Given the description of an element on the screen output the (x, y) to click on. 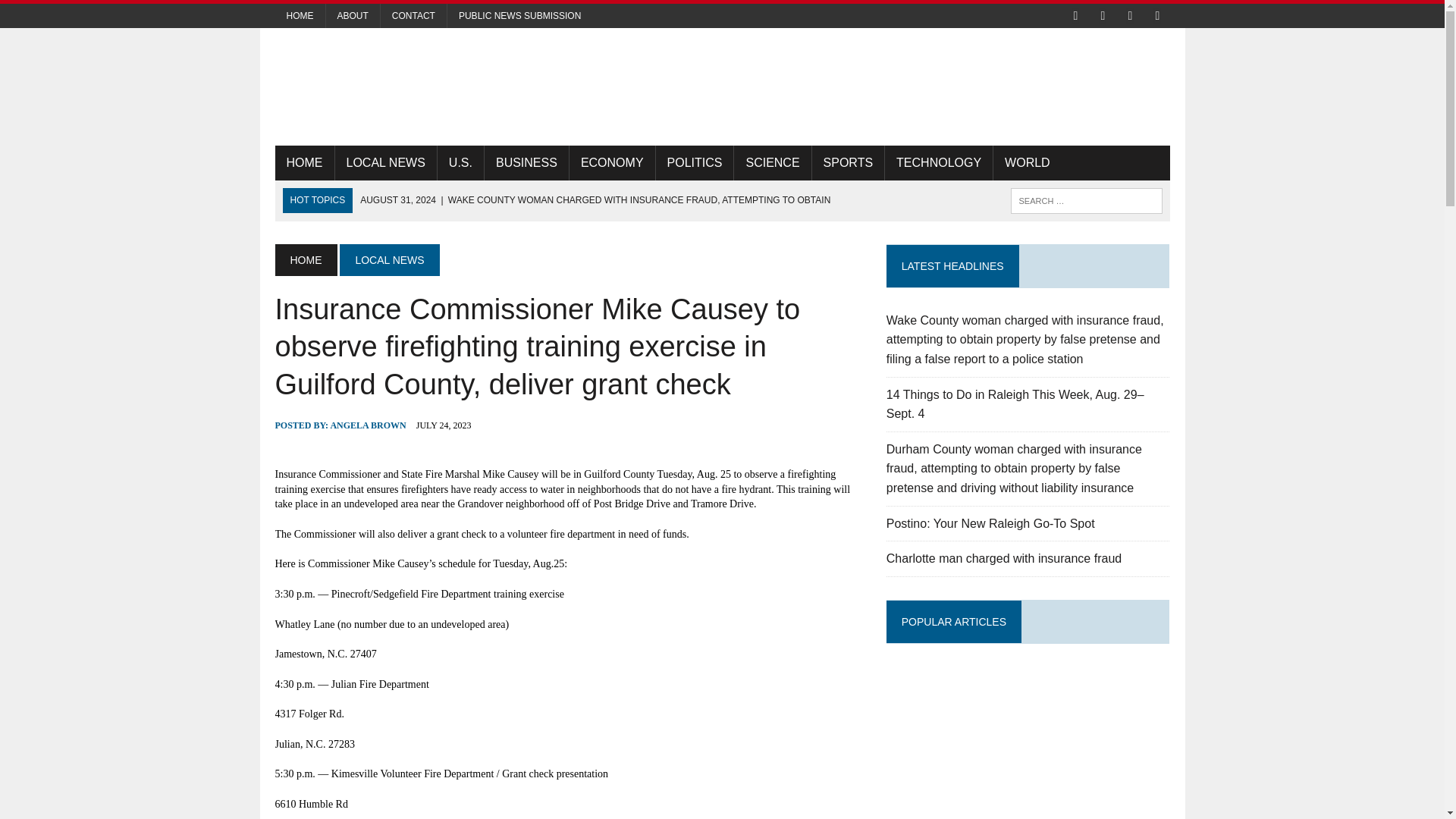
ANGELA BROWN (368, 425)
BUSINESS (526, 162)
ABOUT (353, 15)
HOME (305, 260)
CONTACT (413, 15)
Search (75, 14)
SPORTS (848, 162)
POLITICS (694, 162)
